Given the description of an element on the screen output the (x, y) to click on. 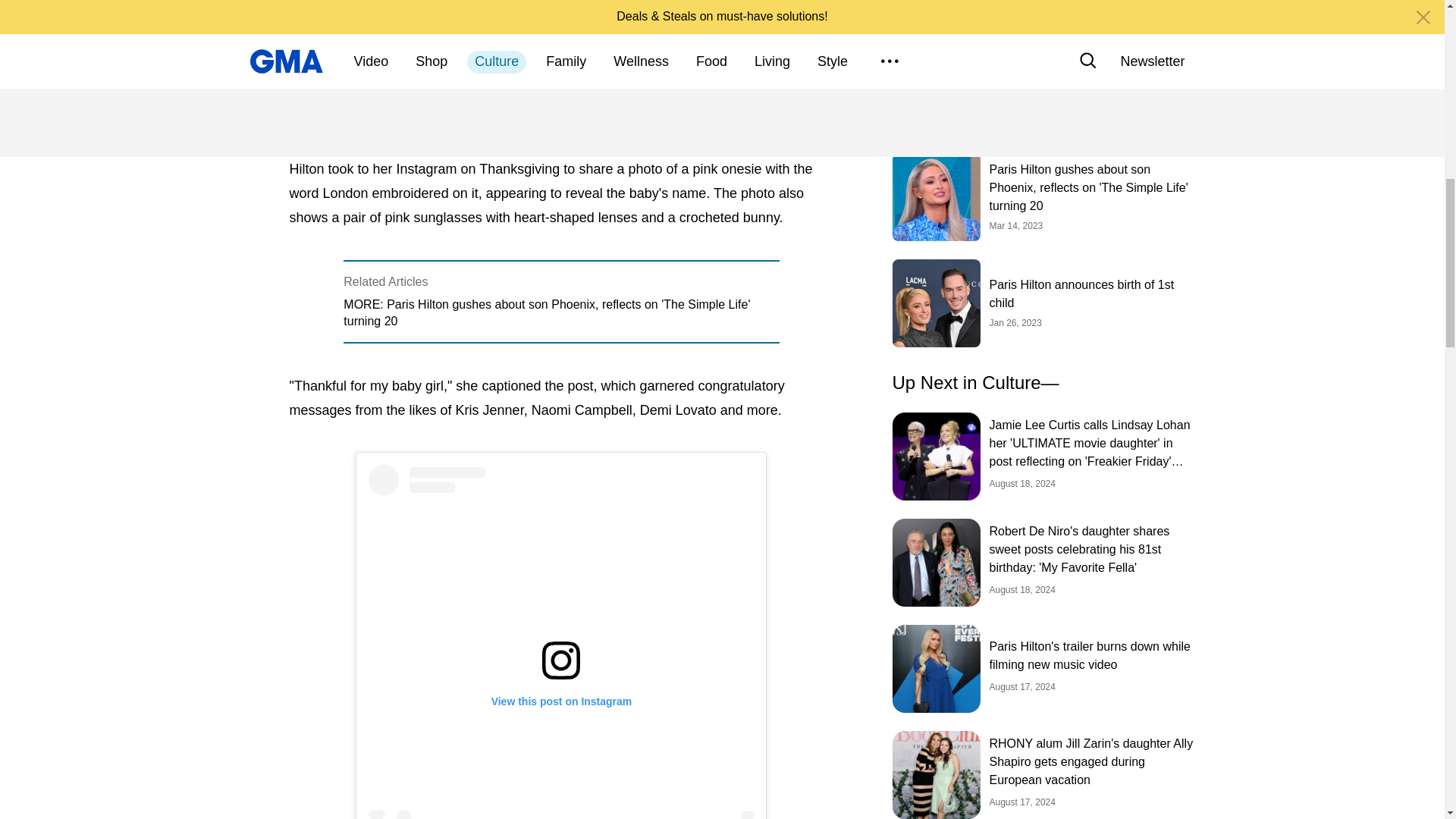
Paris Hilton (327, 89)
Carson Blackwelder (355, 13)
